Given the description of an element on the screen output the (x, y) to click on. 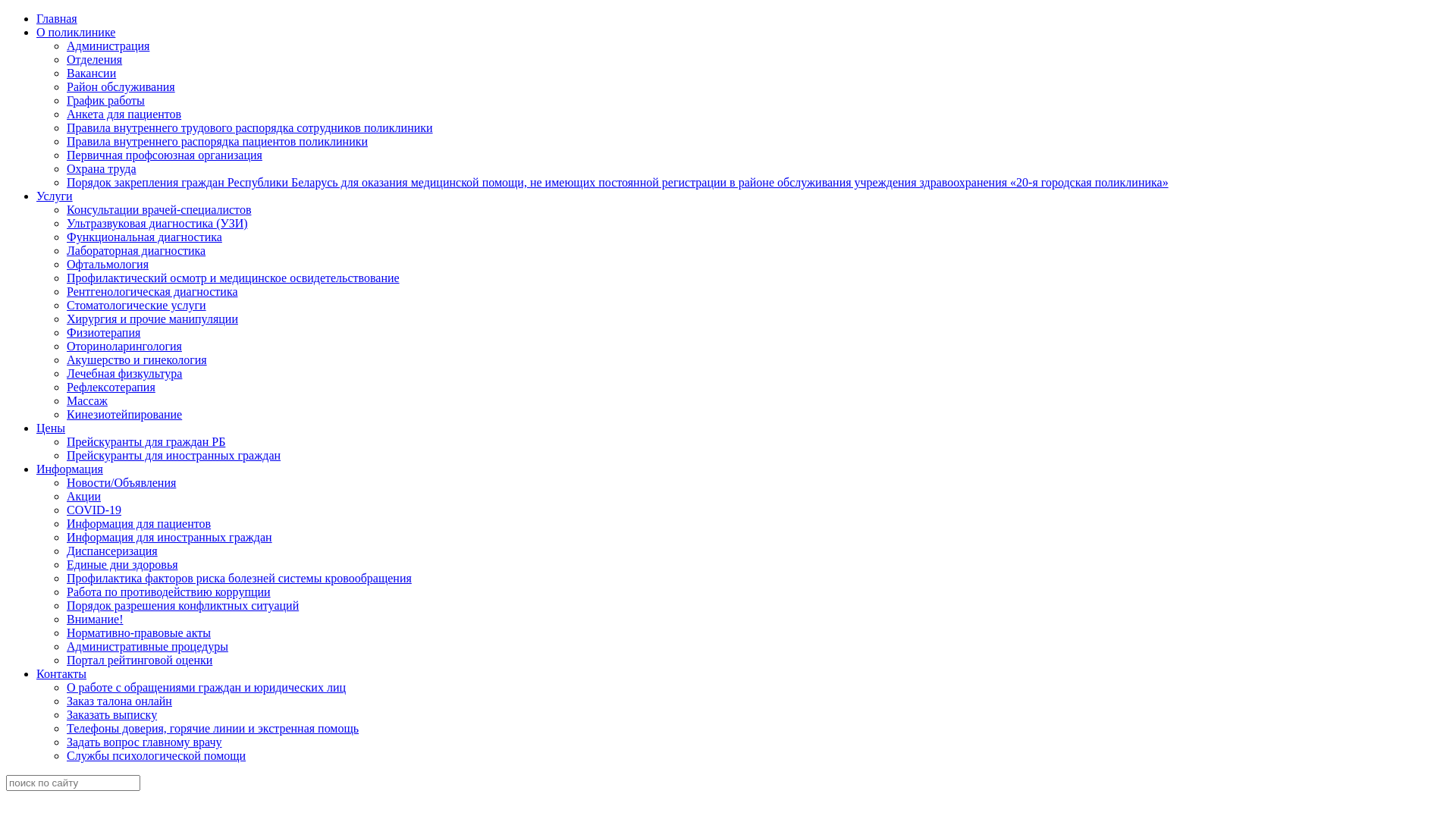
COVID-19 Element type: text (93, 509)
